Given the description of an element on the screen output the (x, y) to click on. 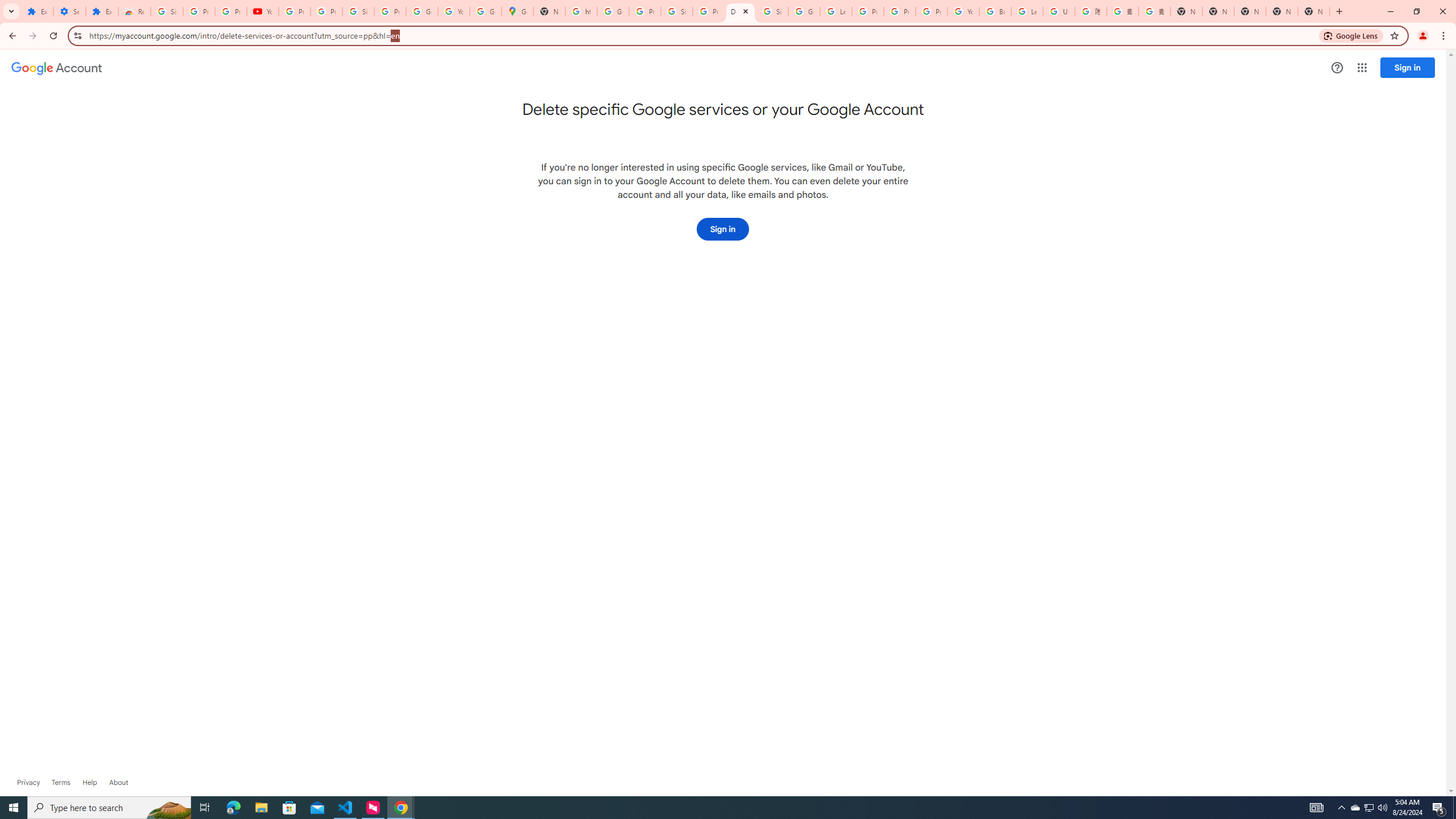
Sign in - Google Accounts (166, 11)
Sign in - Google Accounts (358, 11)
Reviews: Helix Fruit Jump Arcade Game (134, 11)
Privacy Help Center - Policies Help (868, 11)
Google Maps (517, 11)
